Given the description of an element on the screen output the (x, y) to click on. 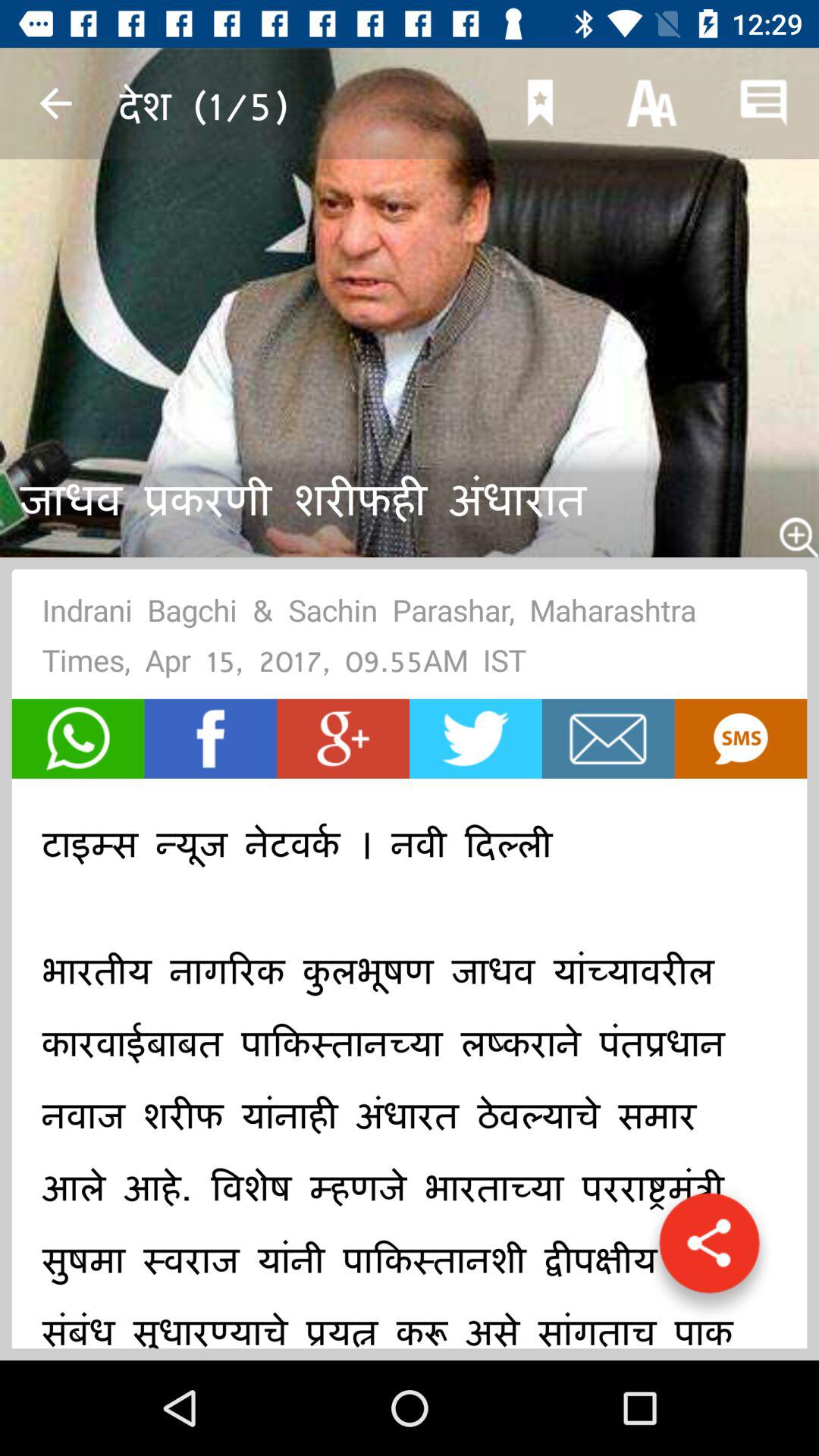
sms button (740, 738)
